Given the description of an element on the screen output the (x, y) to click on. 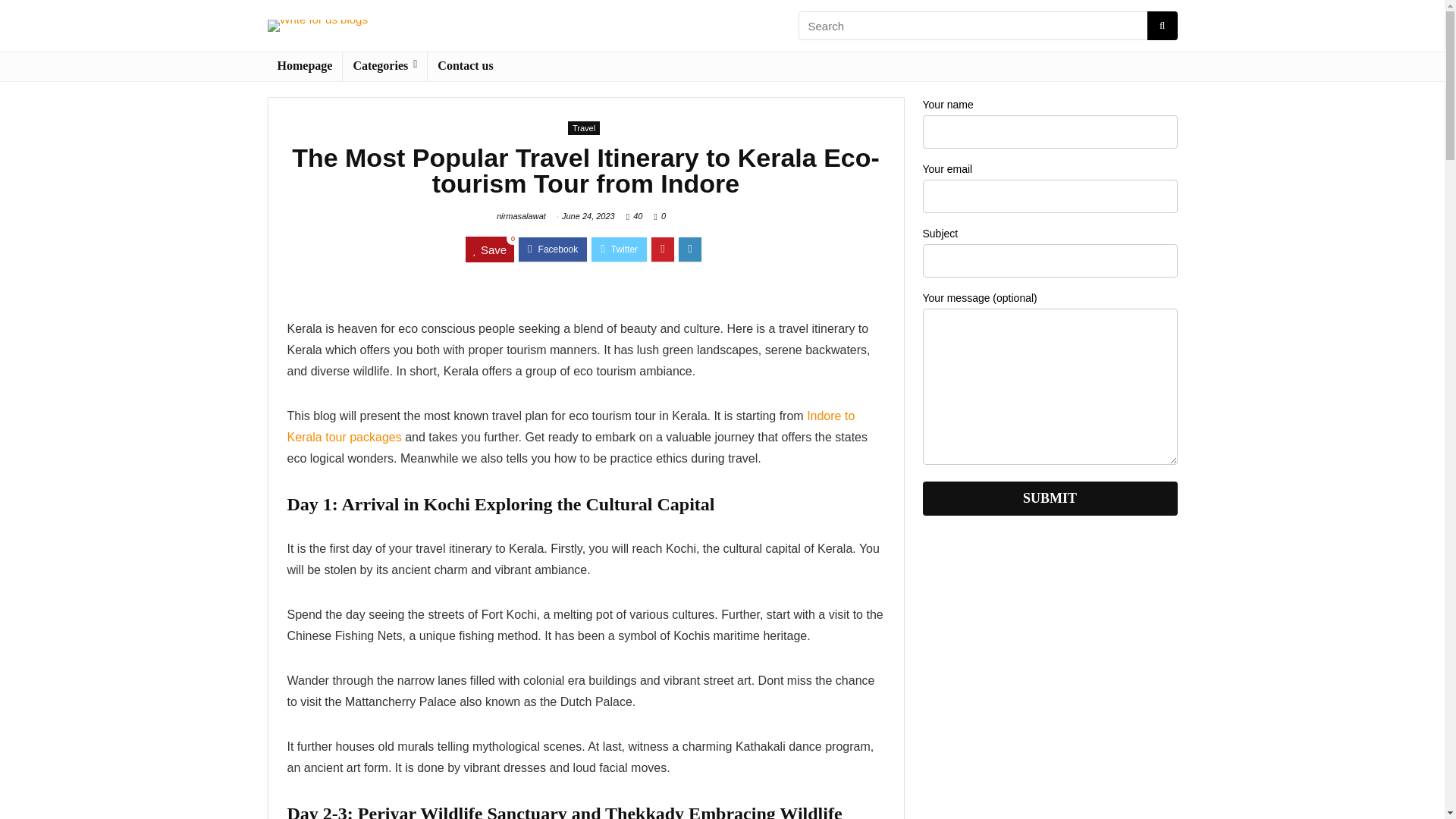
Homepage (304, 66)
Advertisement (1048, 683)
Categories (384, 66)
Submit (1048, 498)
Contact us (465, 66)
